Given the description of an element on the screen output the (x, y) to click on. 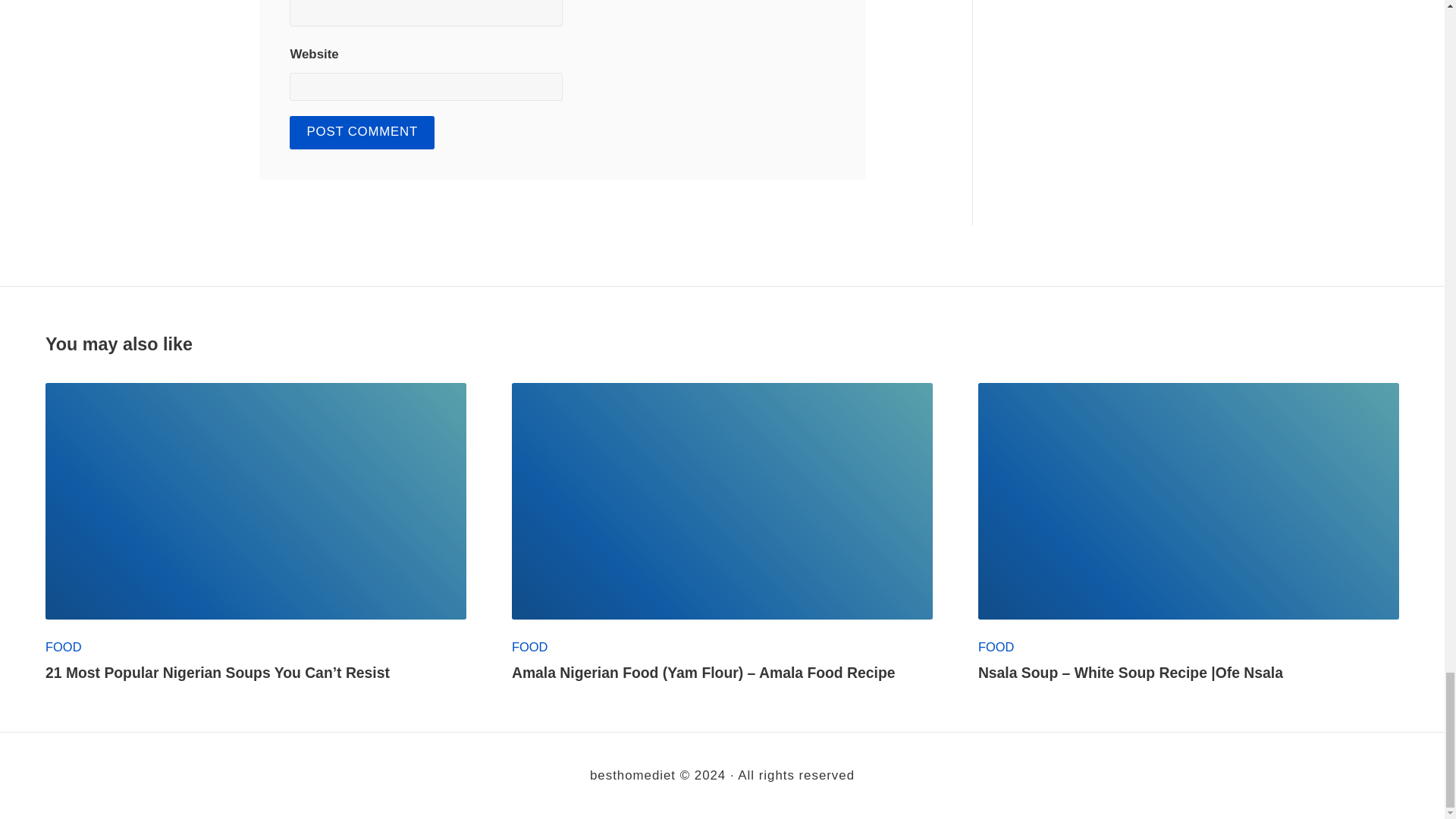
FOOD (63, 646)
Post Comment (361, 132)
FOOD (530, 646)
Post Comment (361, 132)
READ FULL POST (722, 501)
READ FULL POST (255, 501)
